Given the description of an element on the screen output the (x, y) to click on. 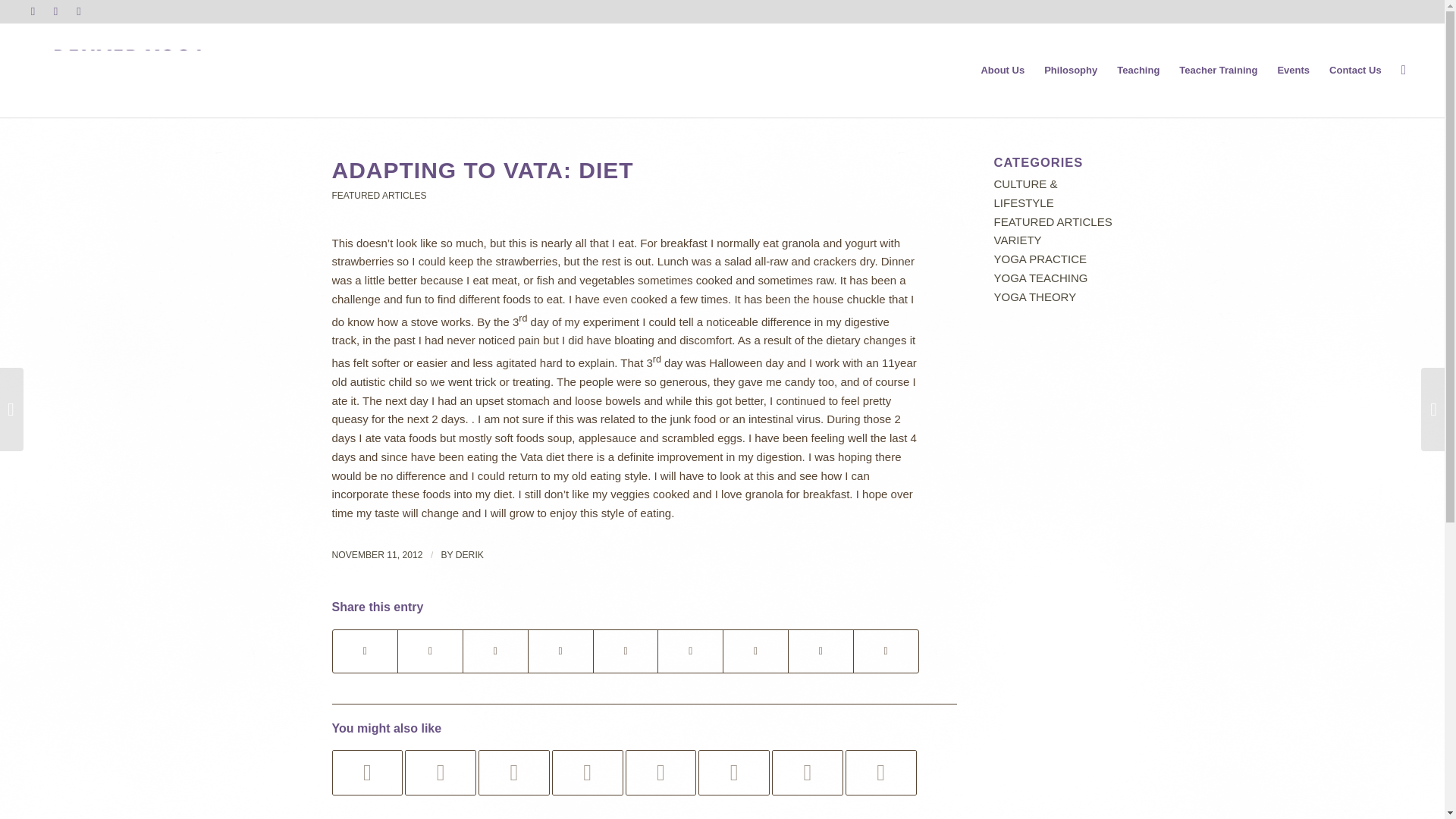
An Obsessed Exerciser Finds Self-acceptance (367, 772)
Instagram (55, 11)
Philosophy (1069, 69)
Teacher Training (1217, 69)
Events (1292, 69)
Posts by derik (469, 553)
Youtube (78, 11)
About Us (1002, 69)
Teaching (1137, 69)
FEATURED ARTICLES (378, 195)
Facebook (32, 11)
Contact Us (1355, 69)
DERIK (469, 553)
The Serenity of Surrender: Current Perspective (440, 772)
